Given the description of an element on the screen output the (x, y) to click on. 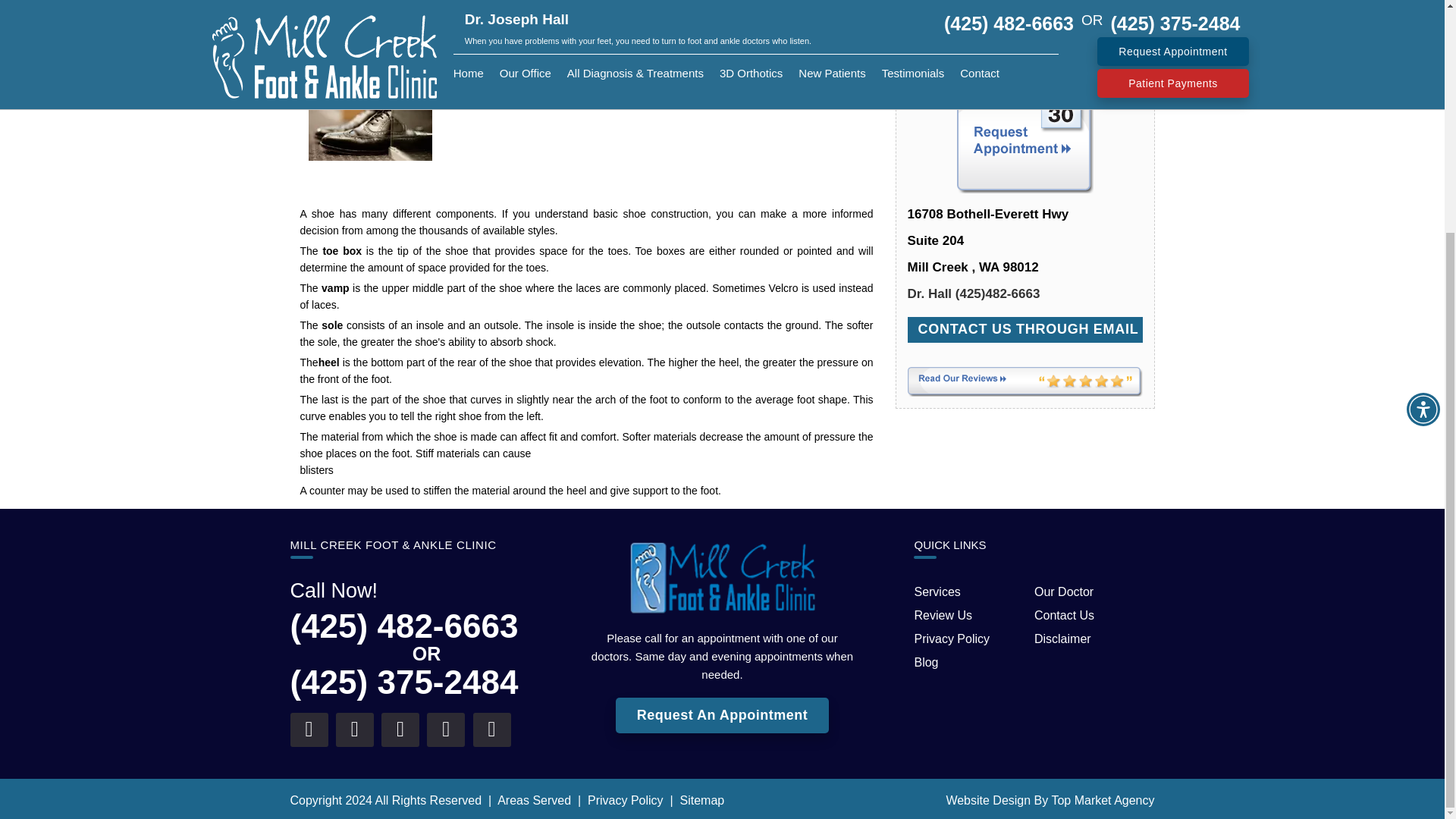
Accessibility Menu (1422, 93)
